Given the description of an element on the screen output the (x, y) to click on. 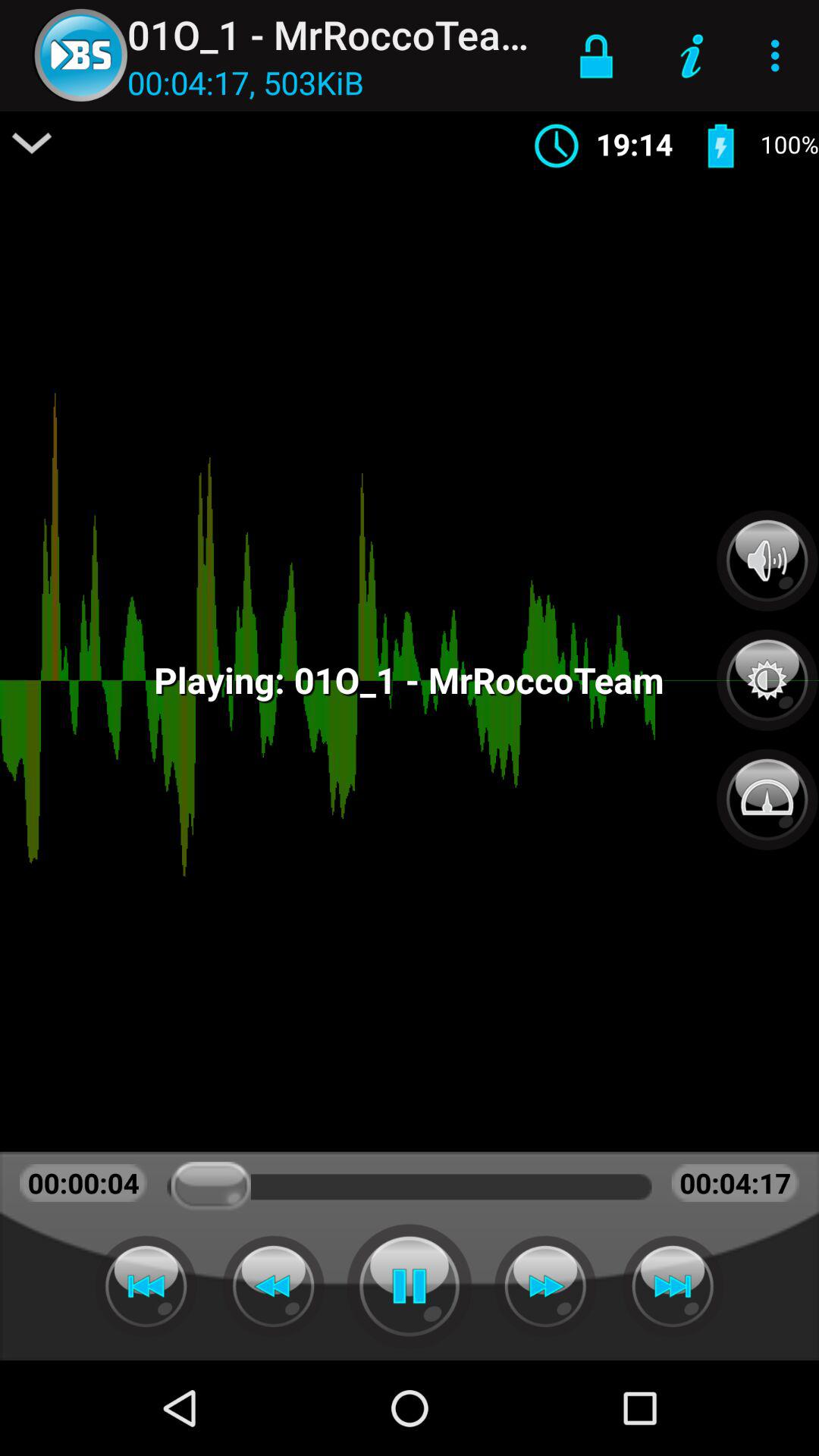
forward the music (672, 1286)
